Given the description of an element on the screen output the (x, y) to click on. 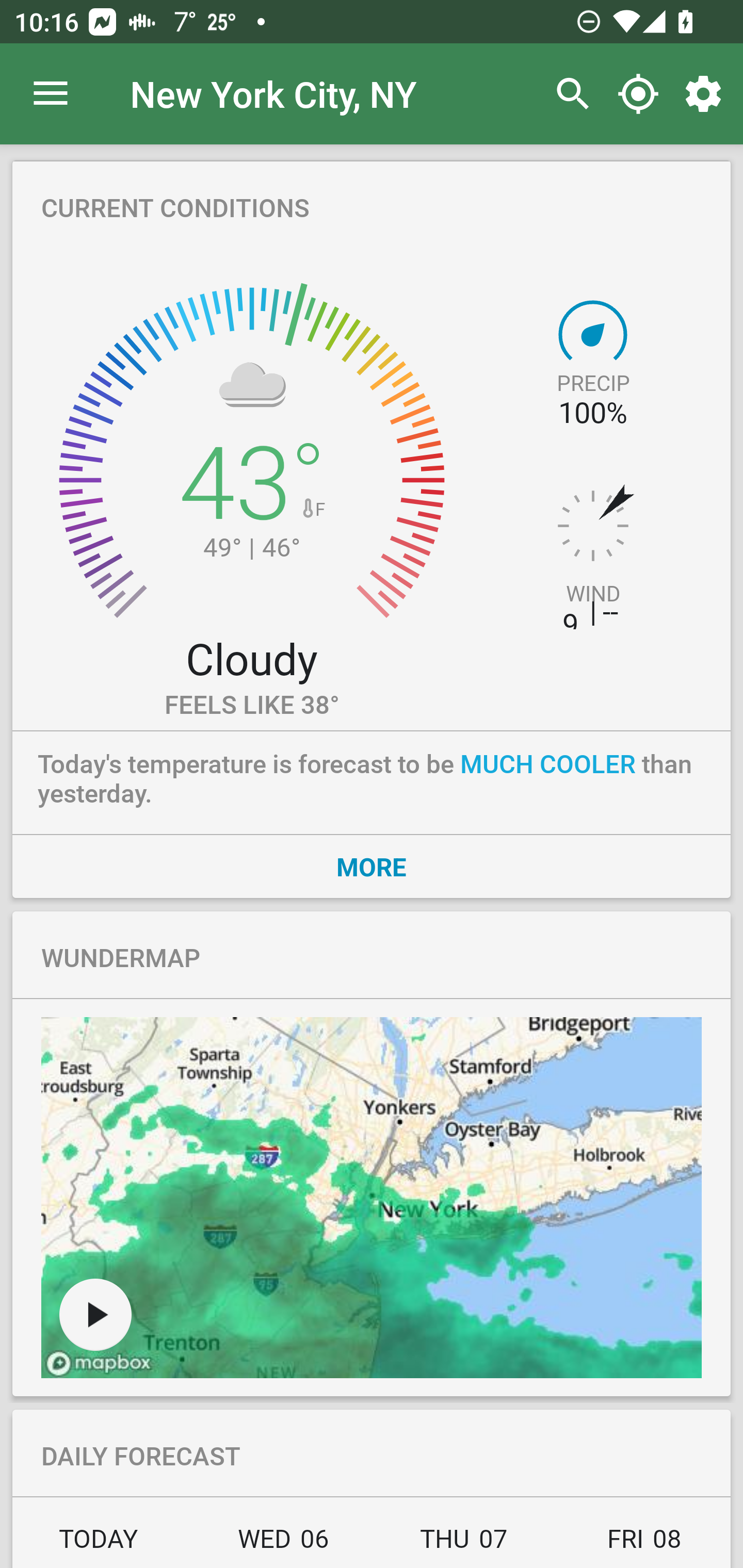
Press to open location manager. (50, 93)
Search for location (567, 94)
Select GPS location (637, 94)
Settings (706, 94)
New York City, NY (273, 92)
100% (592, 412)
Cloudy (251, 657)
MORE (371, 865)
Weather Map (371, 1197)
Weather Map (95, 1314)
TODAY (102, 1544)
WED 06 (283, 1544)
THU 07 (463, 1544)
FRI 08 (642, 1544)
